Given the description of an element on the screen output the (x, y) to click on. 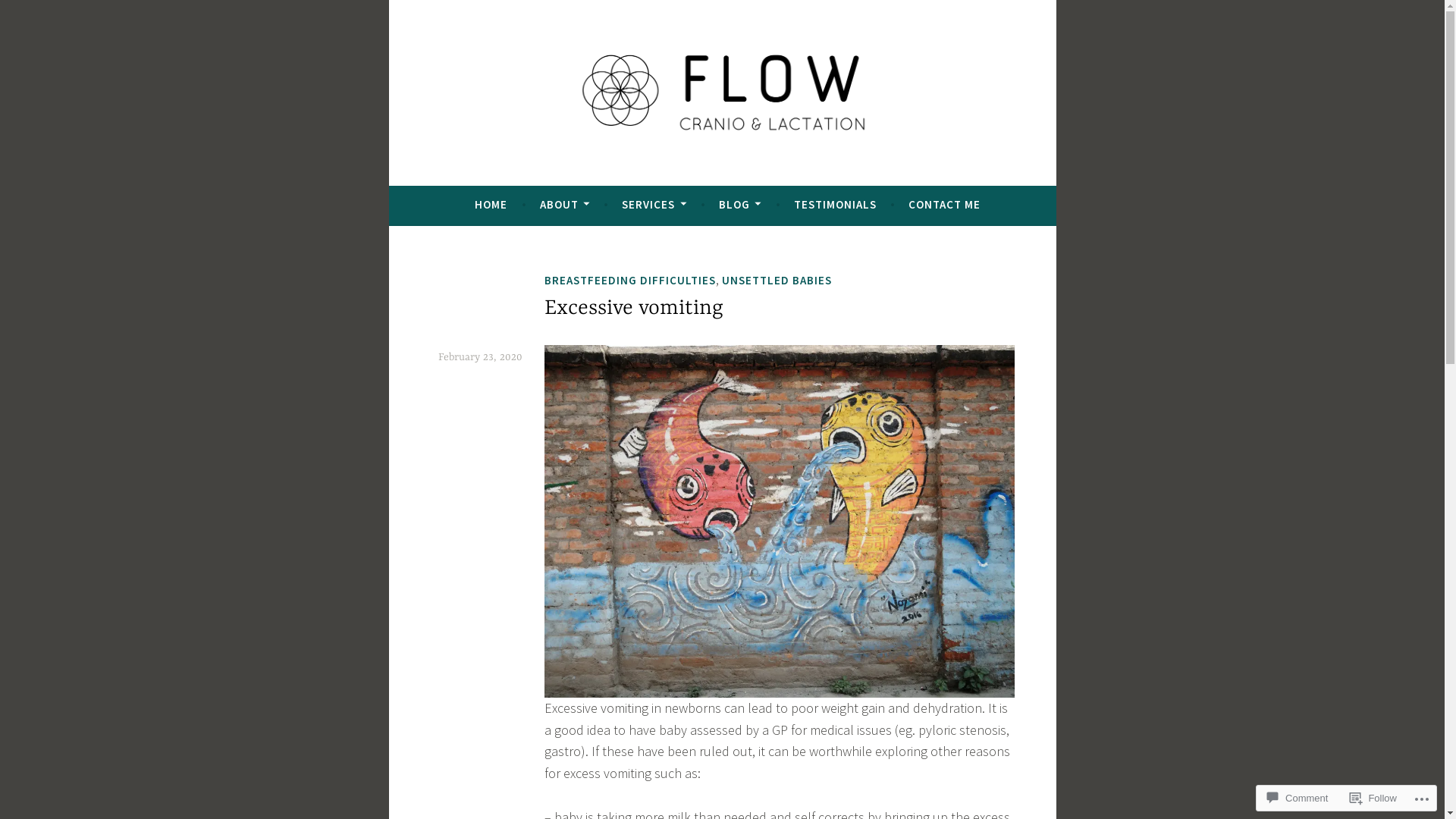
TESTIMONIALS Element type: text (834, 204)
ABOUT Element type: text (564, 204)
Follow Element type: text (1372, 797)
BREASTFEEDING DIFFICULTIES Element type: text (629, 280)
BLOG Element type: text (739, 204)
February 23, 2020 Element type: text (480, 357)
Comment Element type: text (1297, 797)
Flow Cranio and Lactation Element type: text (611, 179)
SERVICES Element type: text (653, 204)
UNSETTLED BABIES Element type: text (776, 280)
HOME Element type: text (490, 204)
CONTACT ME Element type: text (944, 204)
